Given the description of an element on the screen output the (x, y) to click on. 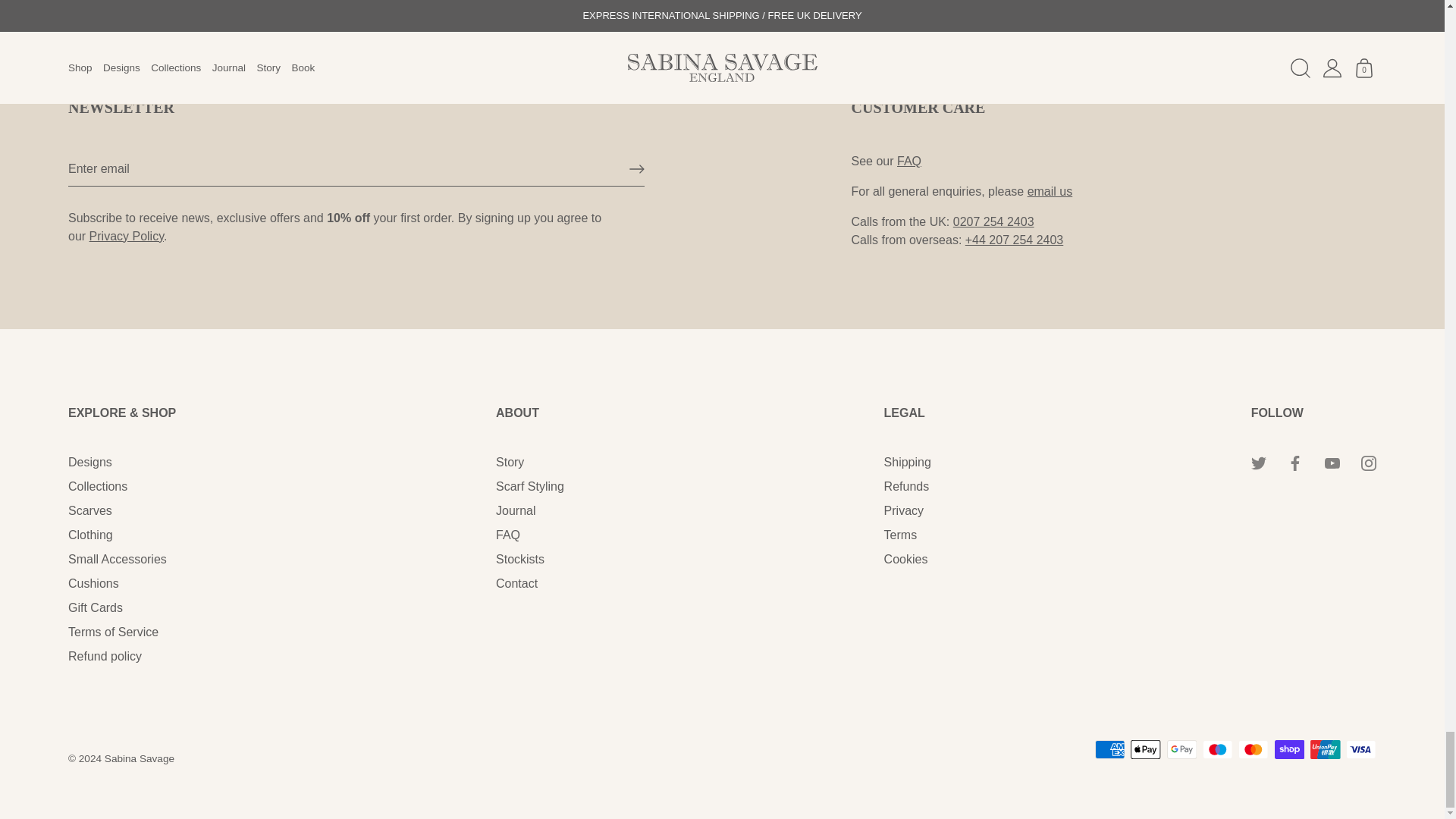
Youtube (1331, 462)
Maestro (1217, 749)
Shop Pay (1289, 749)
Apple Pay (1145, 749)
Union Pay (1325, 749)
American Express (1109, 749)
RIGHT ARROW LONG (636, 168)
Google Pay (1181, 749)
Mastercard (1253, 749)
Instagram (1368, 462)
Twitter (1258, 462)
Visa (1360, 749)
